Given the description of an element on the screen output the (x, y) to click on. 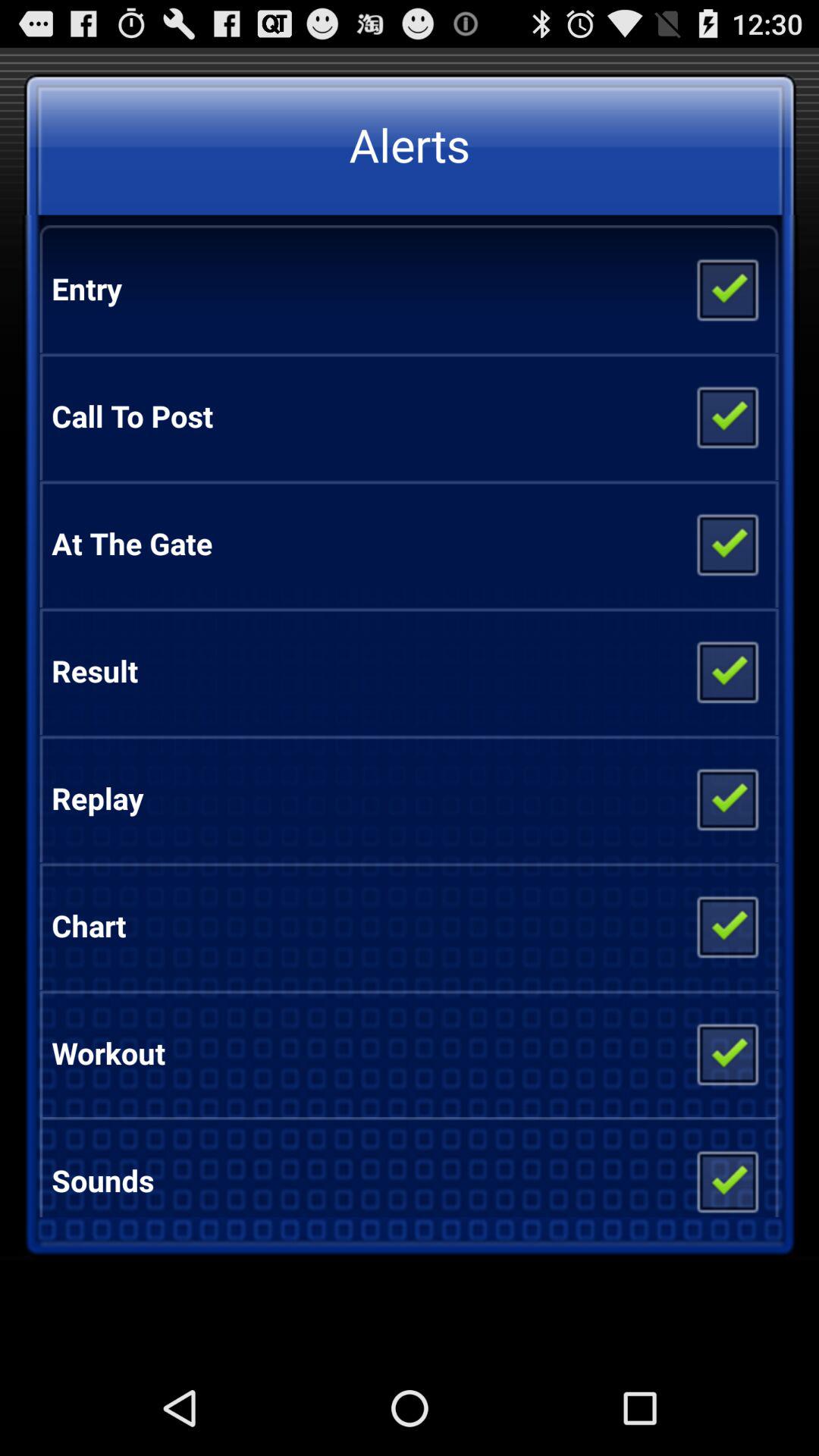
turn off the item next to the at the gate icon (726, 543)
